Given the description of an element on the screen output the (x, y) to click on. 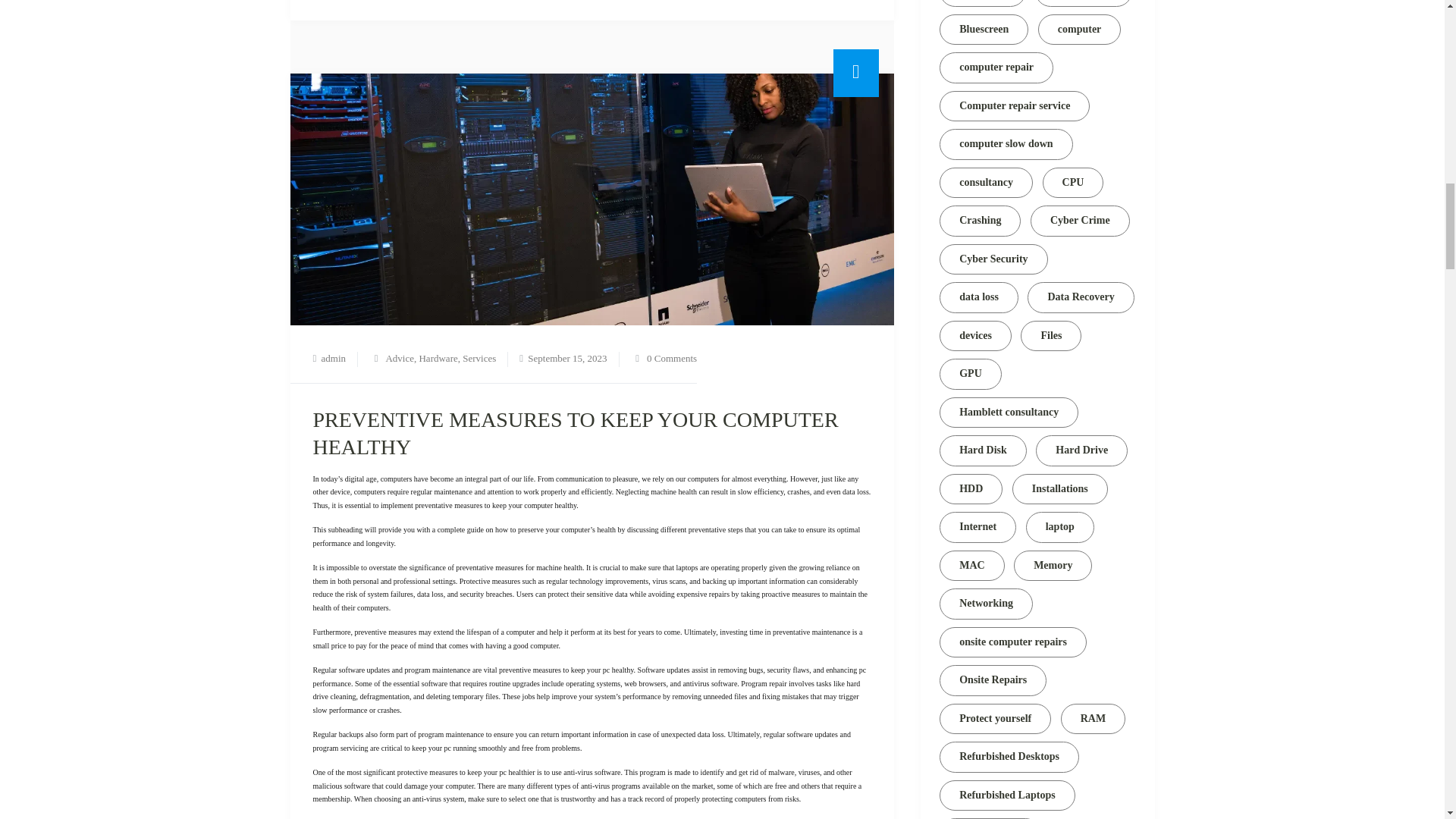
0 Comments (671, 357)
Advice (399, 357)
September 15, 2023 (567, 357)
PREVENTIVE MEASURES TO KEEP YOUR COMPUTER HEALTHY (575, 432)
Hardware (438, 357)
Services (479, 357)
admin (333, 357)
